Given the description of an element on the screen output the (x, y) to click on. 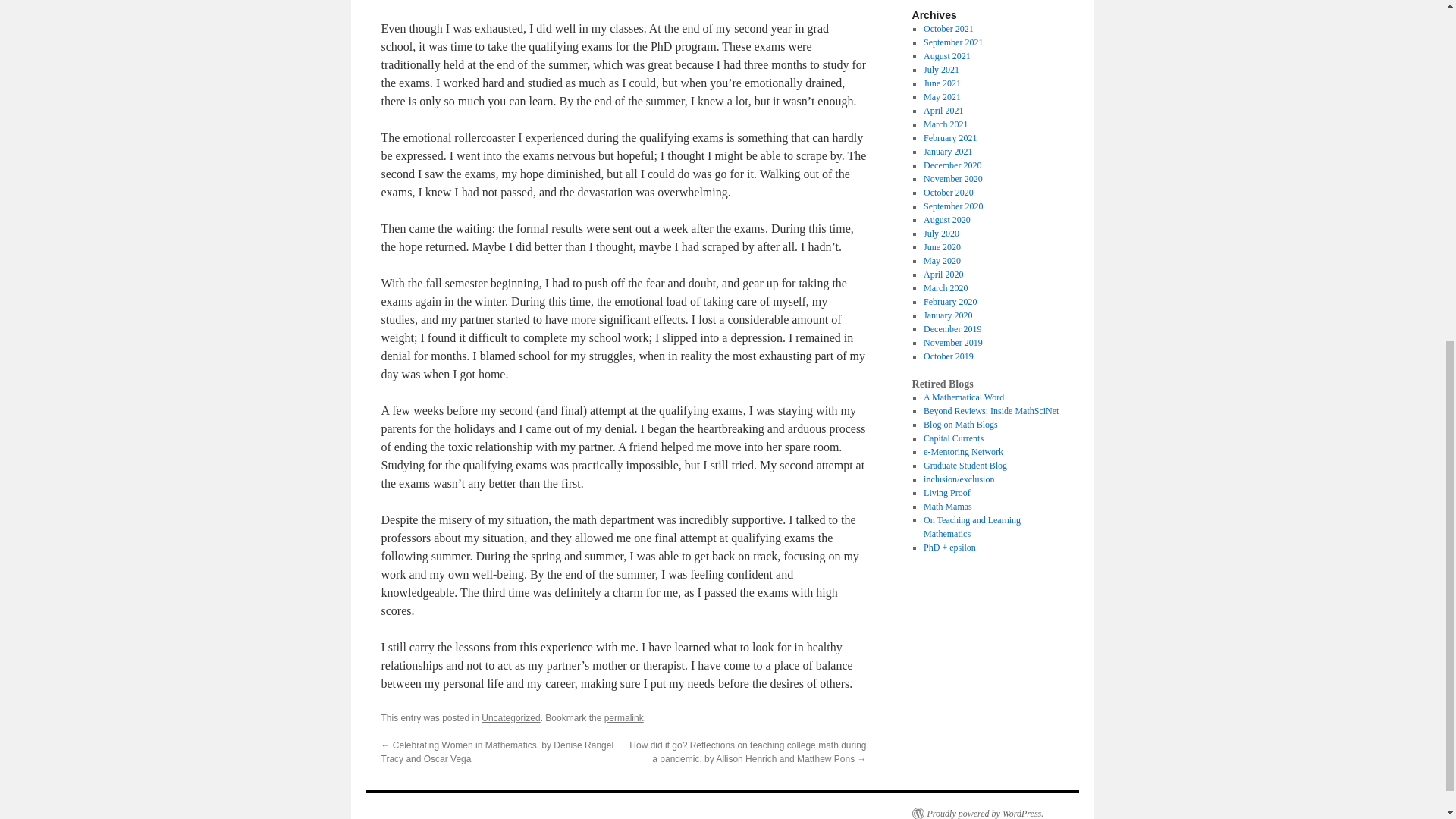
Capital Currents (953, 438)
Graduate Student Blog (965, 465)
A Mathematical Word (963, 397)
July 2021 (941, 69)
On Teaching and Learning Mathematics (971, 526)
September 2021 (952, 41)
January 2021 (947, 151)
March 2021 (945, 123)
Permalink to Balancing the Love-Math Equation, by Anonymous (623, 717)
permalink (623, 717)
